Given the description of an element on the screen output the (x, y) to click on. 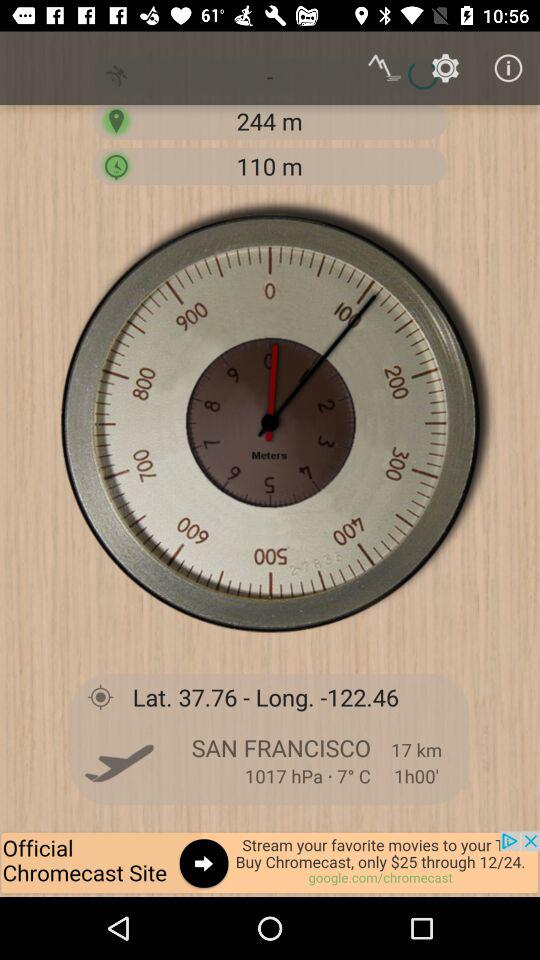
advertisement (270, 864)
